Given the description of an element on the screen output the (x, y) to click on. 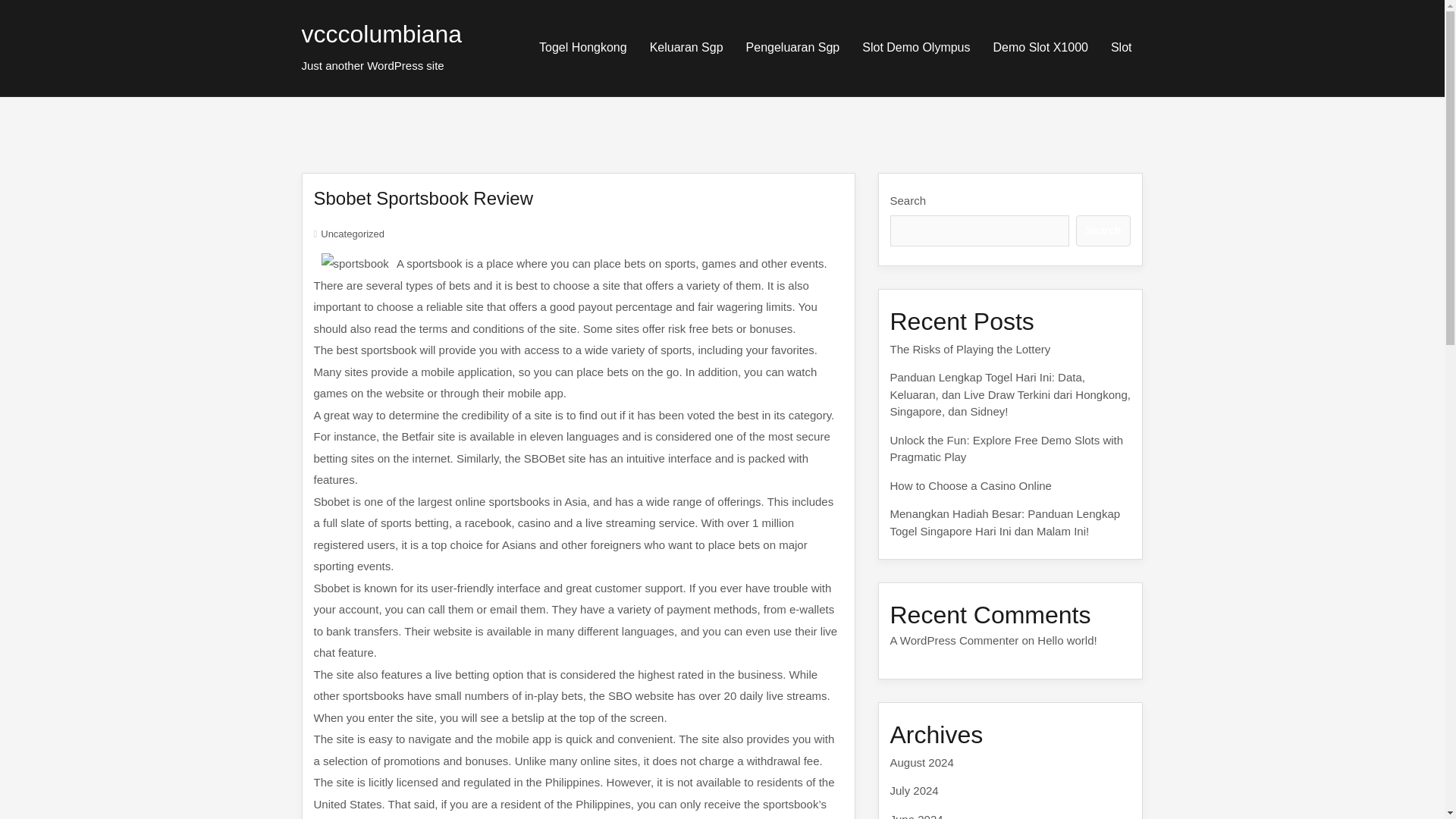
Slot Demo Olympus (915, 47)
Togel Hongkong (583, 47)
Search (1103, 230)
Keluaran Sgp (687, 47)
June 2024 (916, 816)
pengeluaran sgp (793, 47)
slot demo olympus (915, 47)
Uncategorized (352, 233)
Pengeluaran Sgp (793, 47)
